Given the description of an element on the screen output the (x, y) to click on. 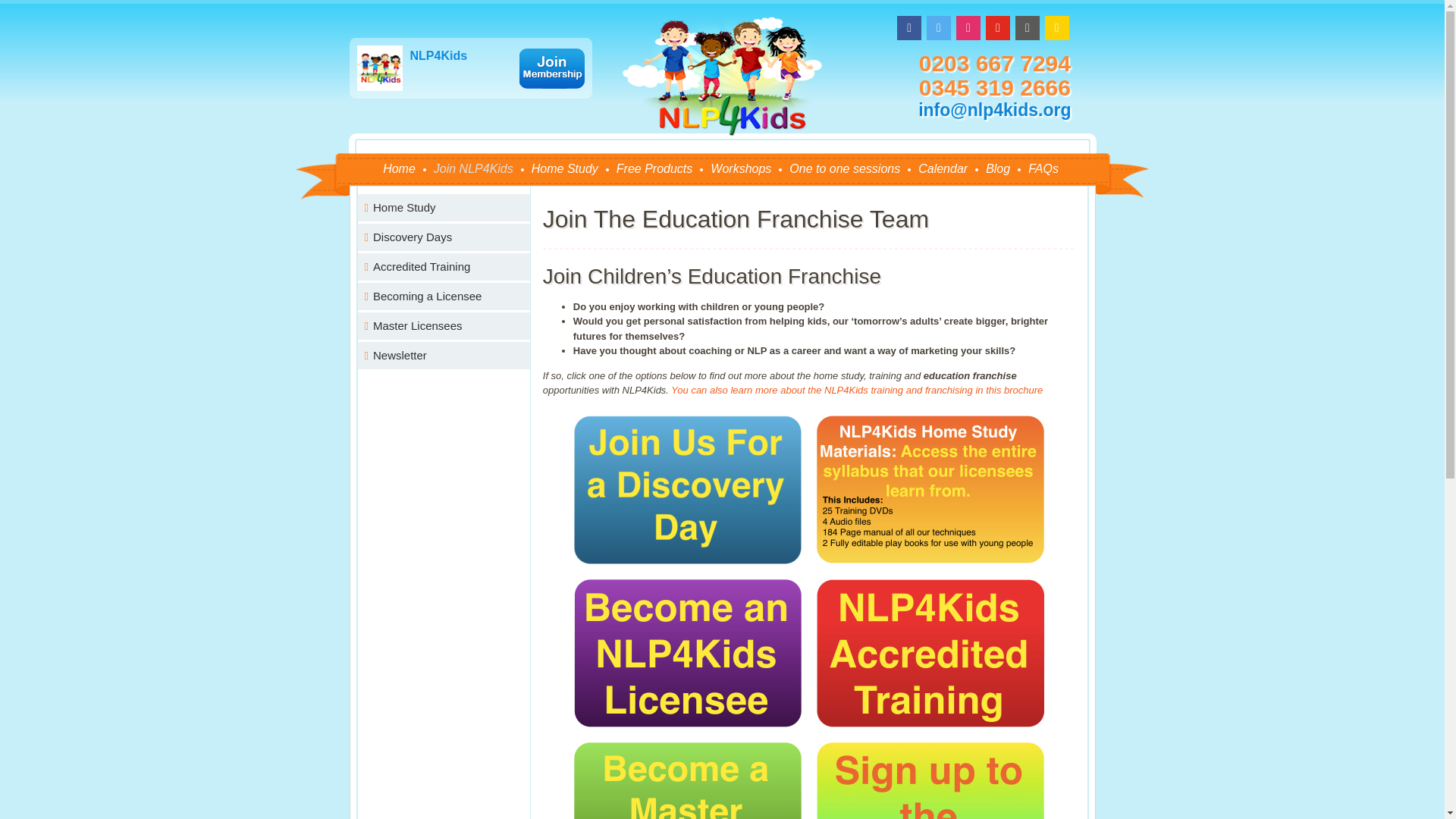
0345 319 2666 (994, 87)
Home (399, 169)
Home Study (443, 207)
Accredited Training (443, 266)
One to one sessions (844, 169)
Blog (997, 169)
Newsletter (443, 355)
Master Licensees (443, 325)
Workshops (740, 169)
FAQs (1042, 169)
Becoming a Licensee (443, 296)
Join NLP4Kids (473, 169)
Discovery Days (443, 236)
Calendar (943, 169)
